Given the description of an element on the screen output the (x, y) to click on. 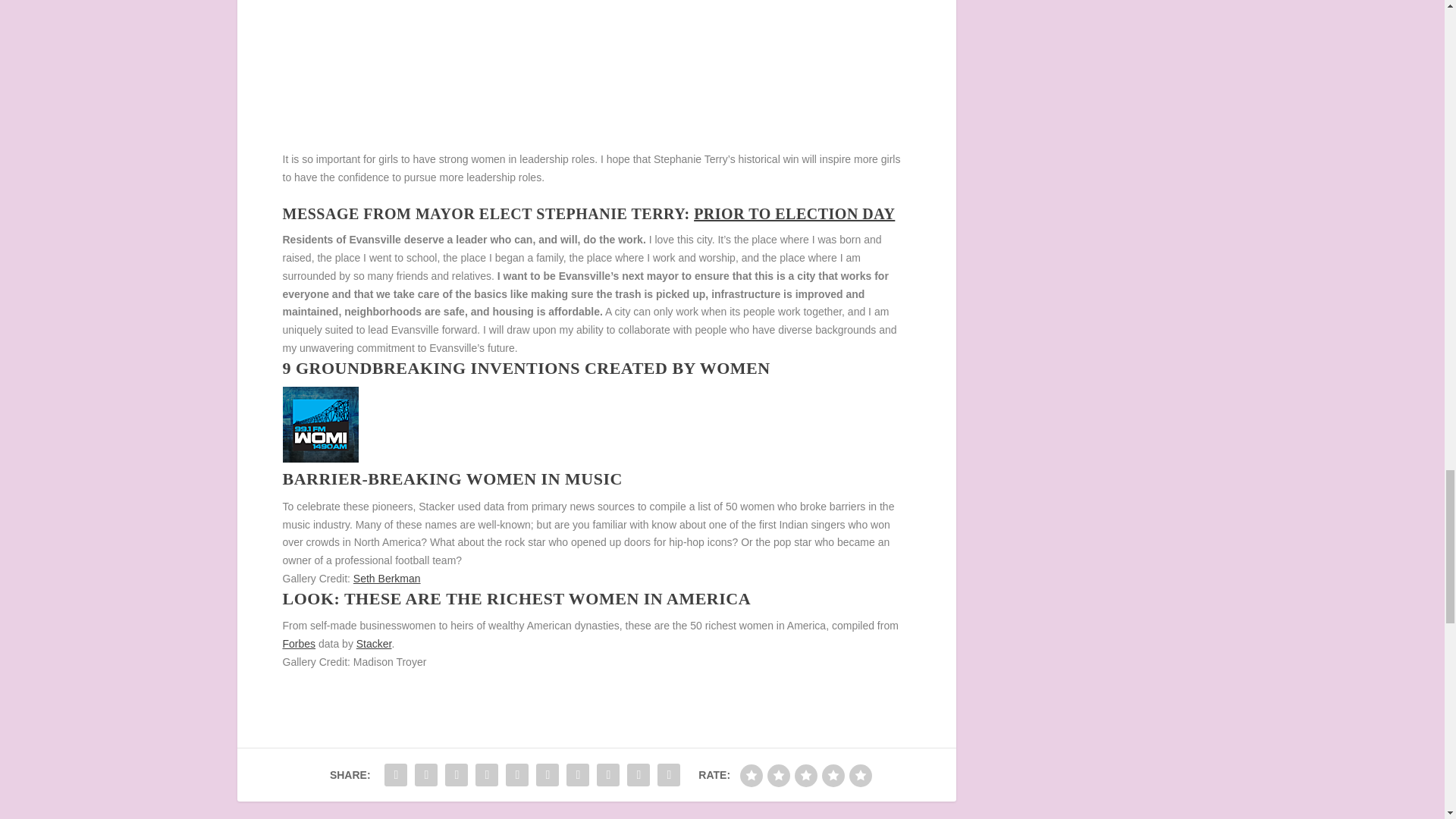
Seth Berkman (386, 578)
Stacker (373, 644)
Forbes (298, 644)
PRIOR TO ELECTION DAY (794, 213)
